Given the description of an element on the screen output the (x, y) to click on. 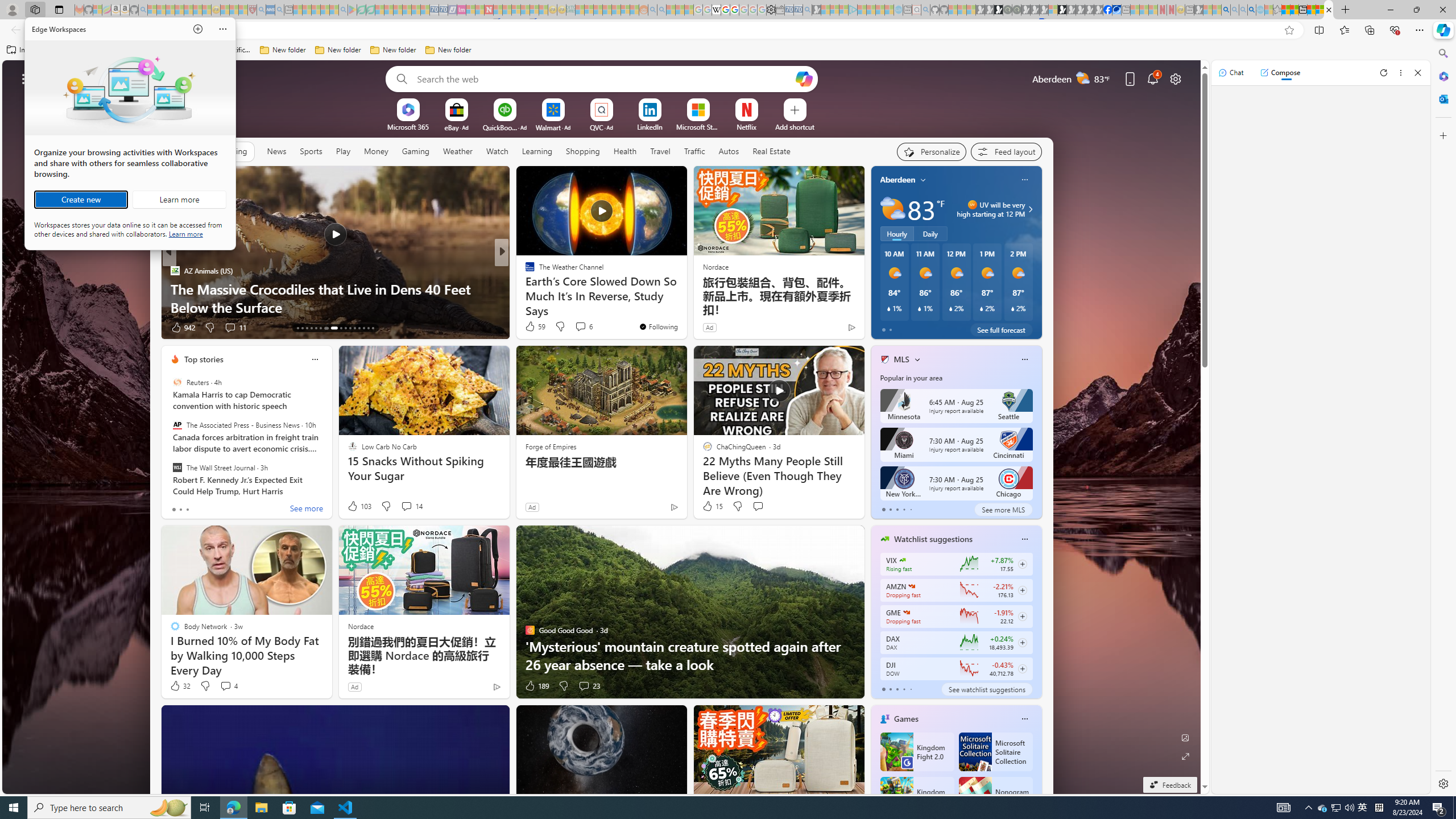
Jobs - lastminute.com Investor Portal - Sleeping (461, 9)
AMAZON.COM, INC. (911, 586)
Play (342, 151)
AutomationID: tab-15 (306, 328)
Running applications (700, 807)
97 Like (530, 327)
